Given the description of an element on the screen output the (x, y) to click on. 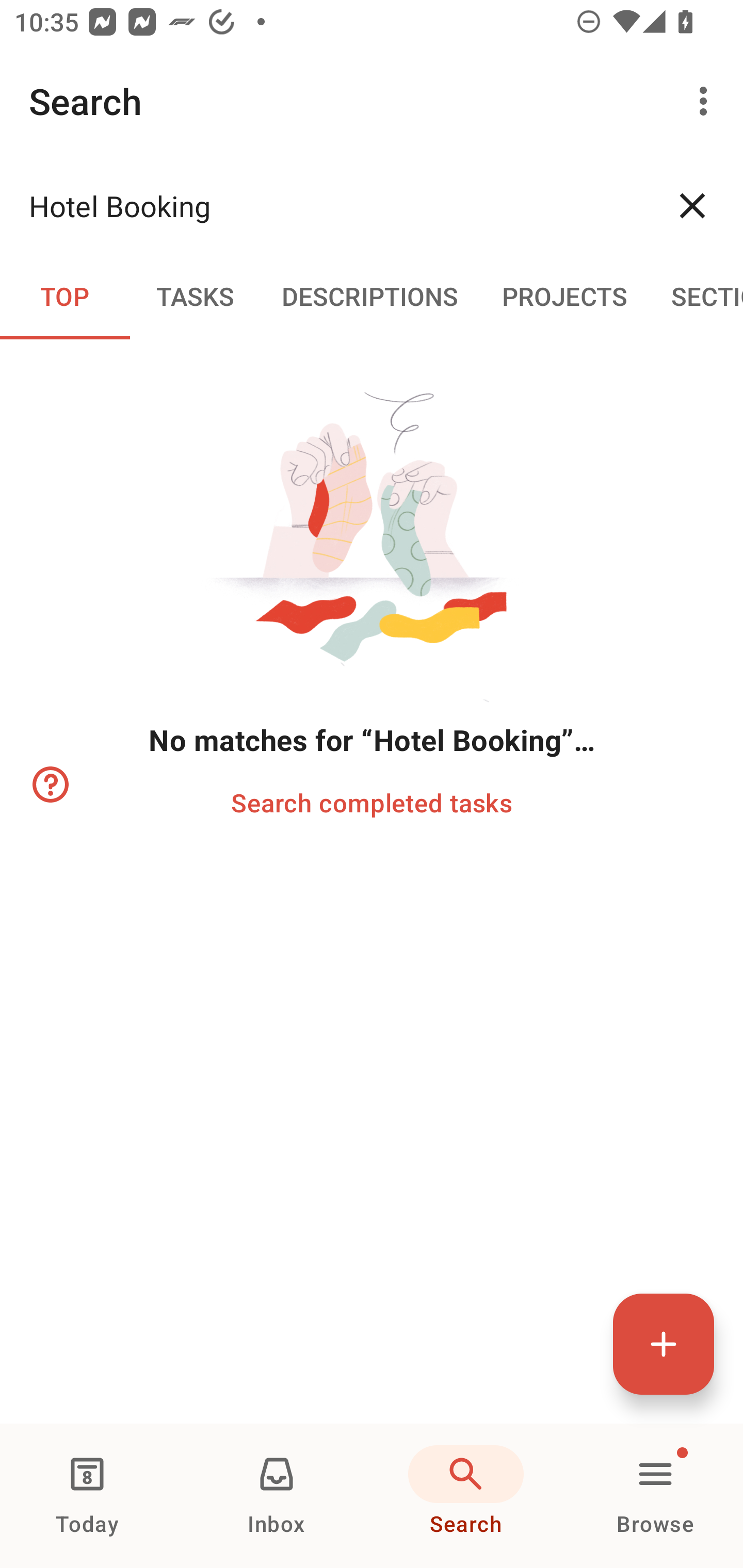
Search More options (371, 100)
More options (706, 101)
Hotel Booking (335, 205)
Clear (692, 205)
Tasks TASKS (195, 295)
Descriptions DESCRIPTIONS (370, 295)
Projects PROJECTS (564, 295)
Learn how to refine your search (48, 784)
Search completed tasks (371, 801)
Quick add (663, 1343)
Today (87, 1495)
Inbox (276, 1495)
Browse (655, 1495)
